Given the description of an element on the screen output the (x, y) to click on. 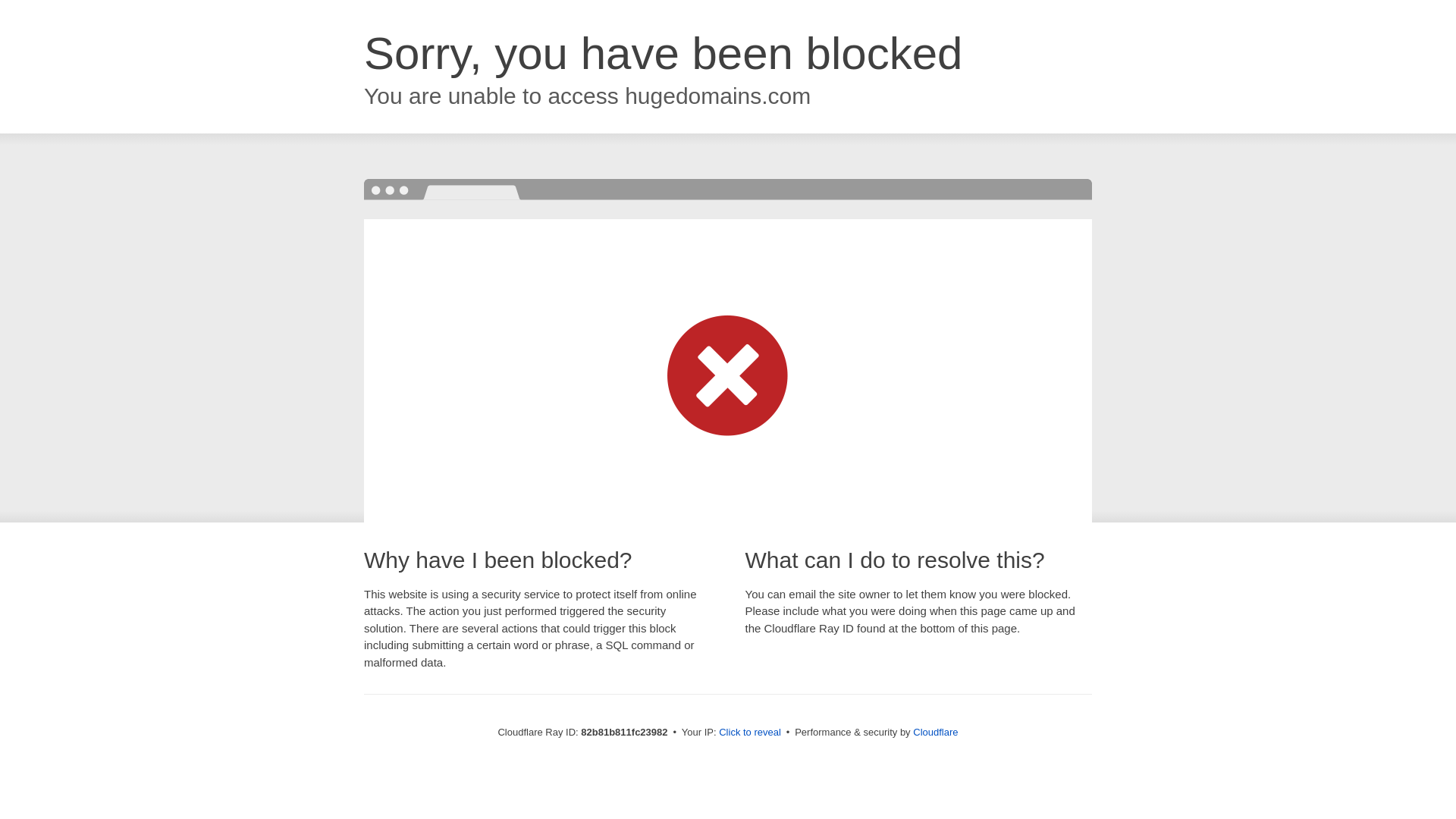
Cloudflare Element type: text (935, 731)
Click to reveal Element type: text (749, 732)
